Given the description of an element on the screen output the (x, y) to click on. 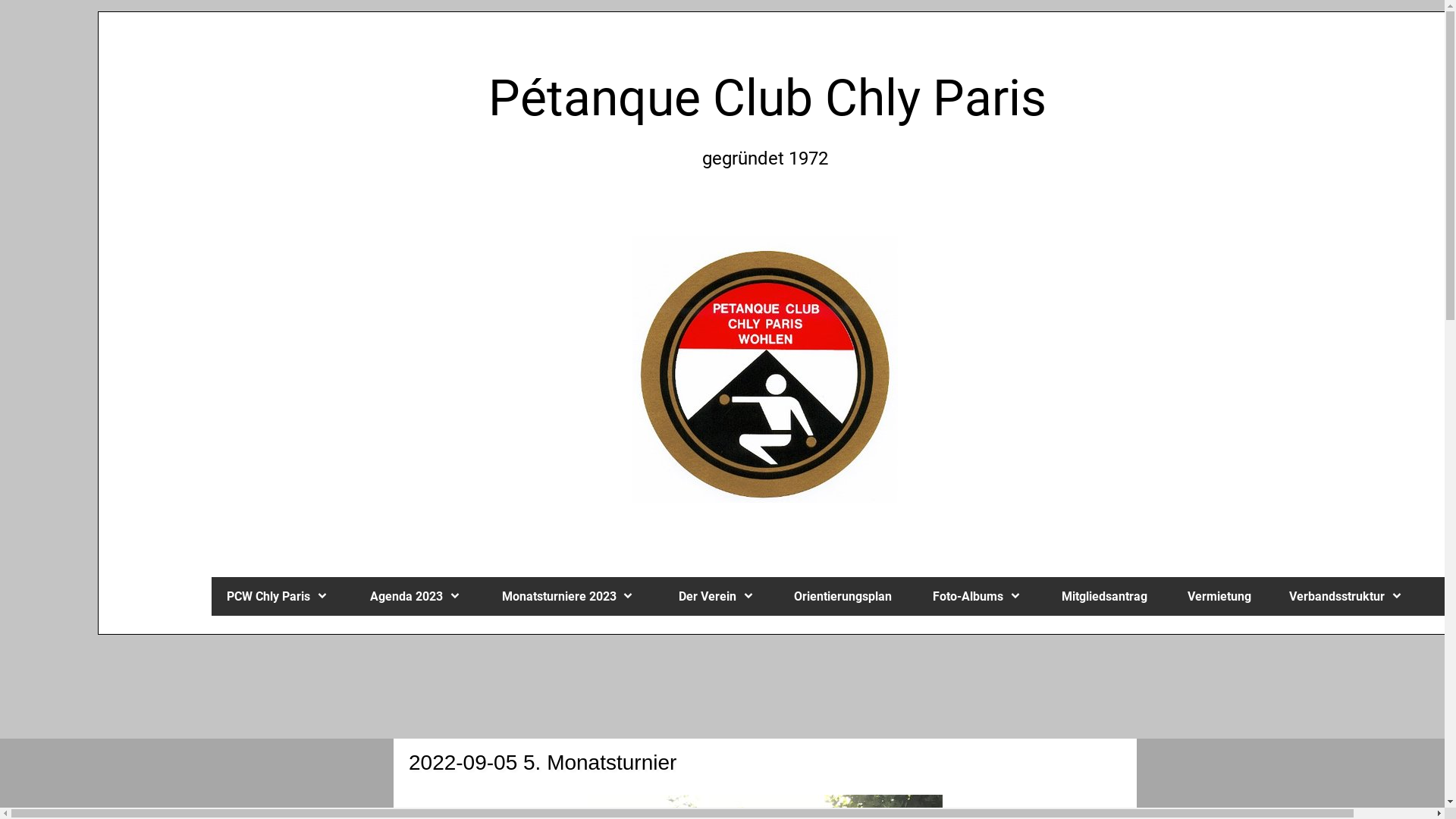
PCW Chly Paris Element type: text (282, 596)
Vermietung Element type: text (1223, 596)
Foto-Albums Element type: text (982, 596)
Der Verein Element type: text (720, 596)
Monatsturniere 2023 Element type: text (574, 596)
Agenda 2023 Element type: text (420, 596)
Orientierungsplan Element type: text (847, 596)
Verbandsstruktur Element type: text (1352, 596)
Mitgliedsantrag Element type: text (1108, 596)
